Given the description of an element on the screen output the (x, y) to click on. 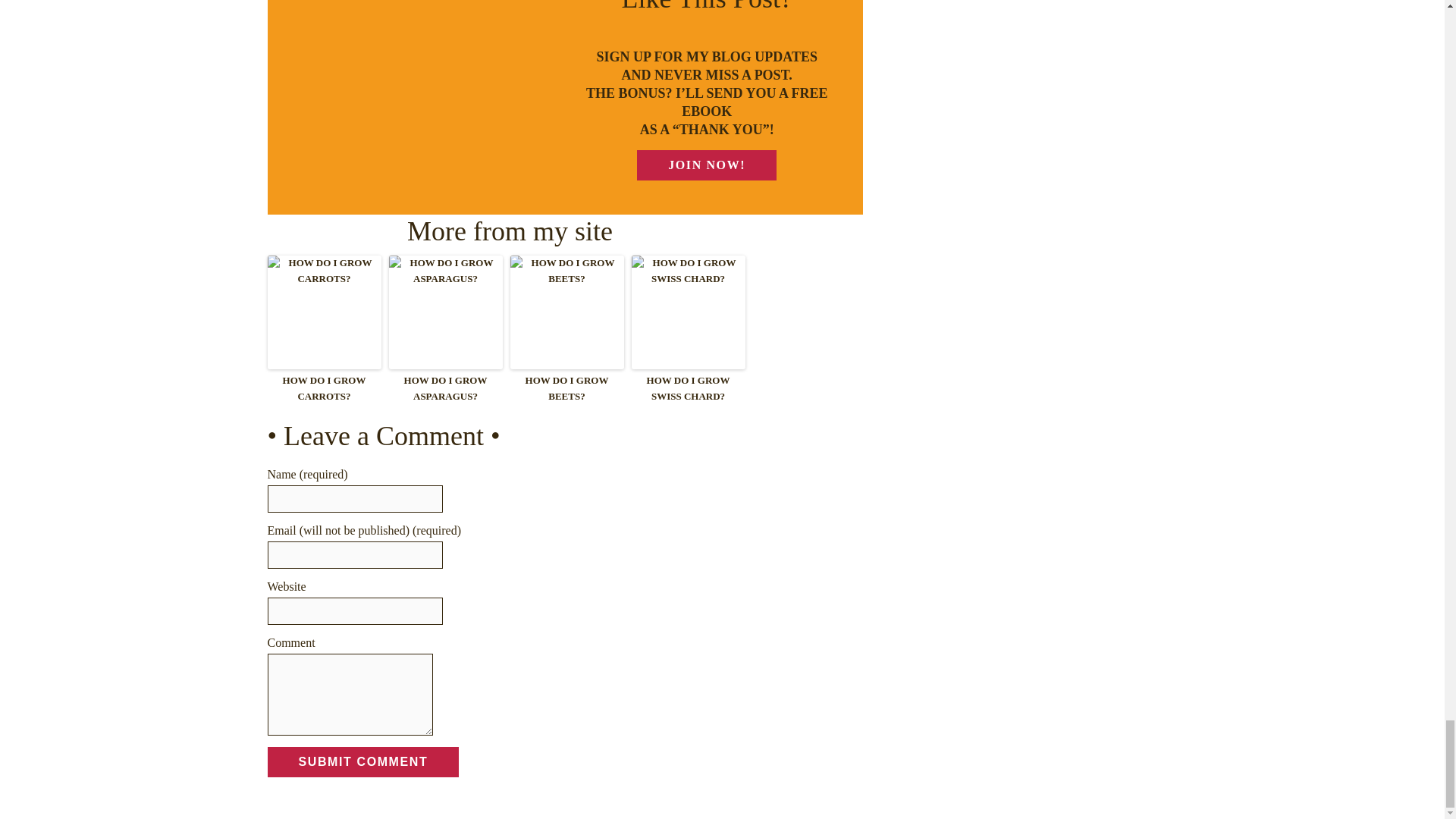
Submit Comment (362, 761)
